Given the description of an element on the screen output the (x, y) to click on. 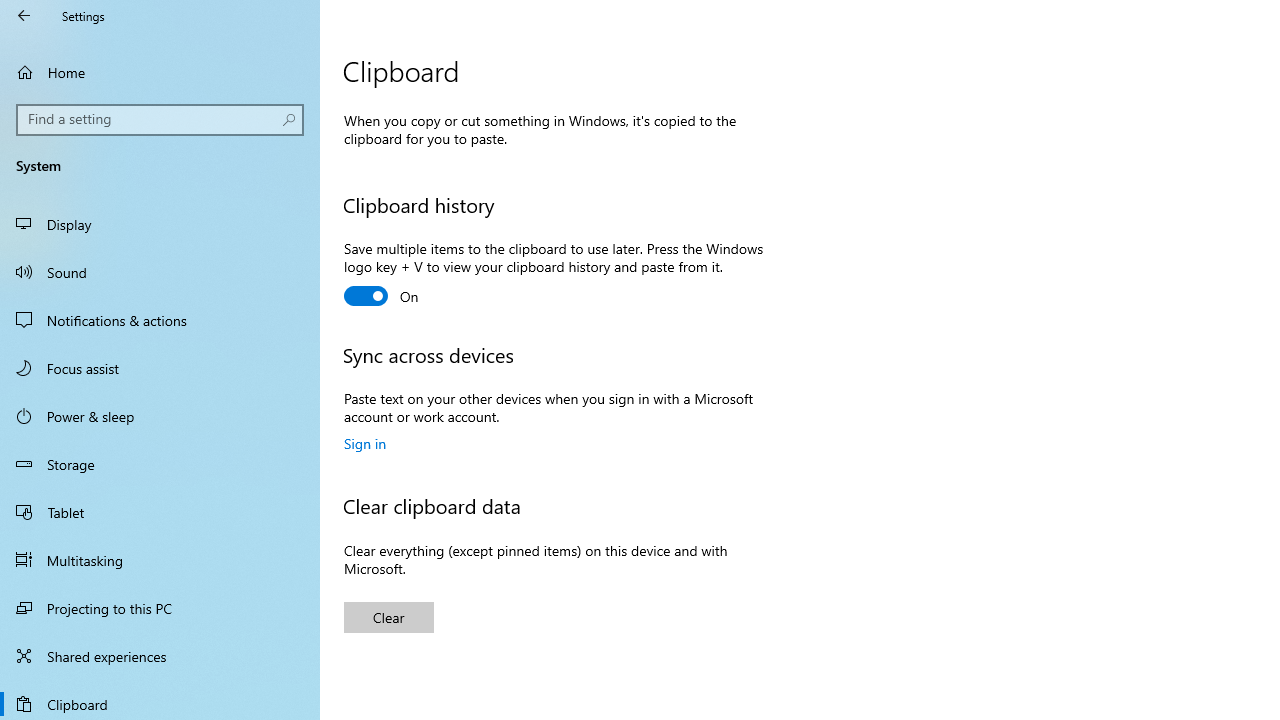
Clear (388, 616)
Home (160, 71)
Projecting to this PC (160, 607)
Multitasking (160, 559)
Display (160, 223)
Back (24, 15)
Sound (160, 271)
Sign in (365, 443)
Search box, Find a setting (160, 119)
Tablet (160, 511)
Shared experiences (160, 655)
Power & sleep (160, 415)
Storage (160, 463)
Focus assist (160, 367)
